Given the description of an element on the screen output the (x, y) to click on. 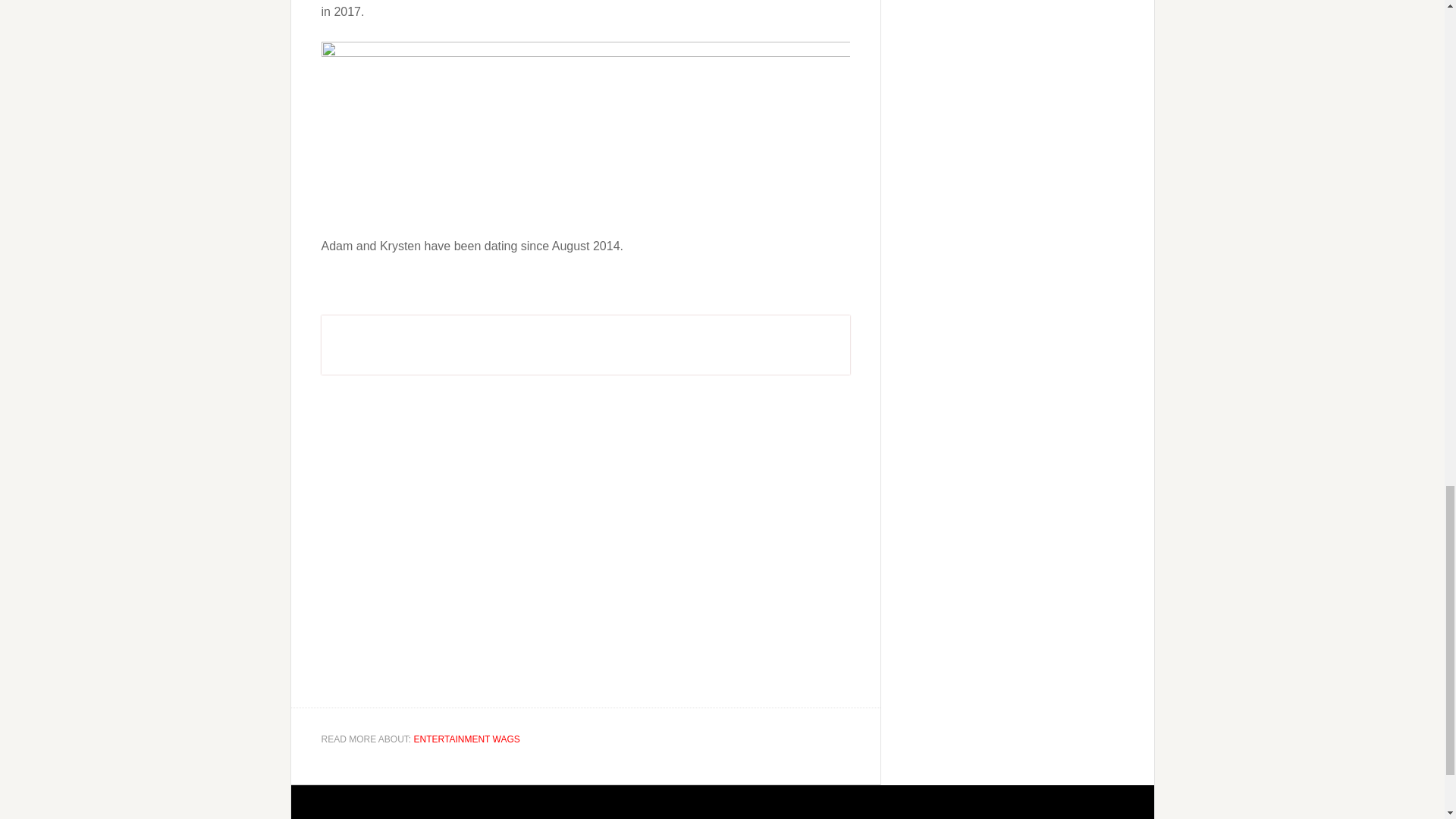
ENTERTAINMENT WAGS (466, 738)
